Given the description of an element on the screen output the (x, y) to click on. 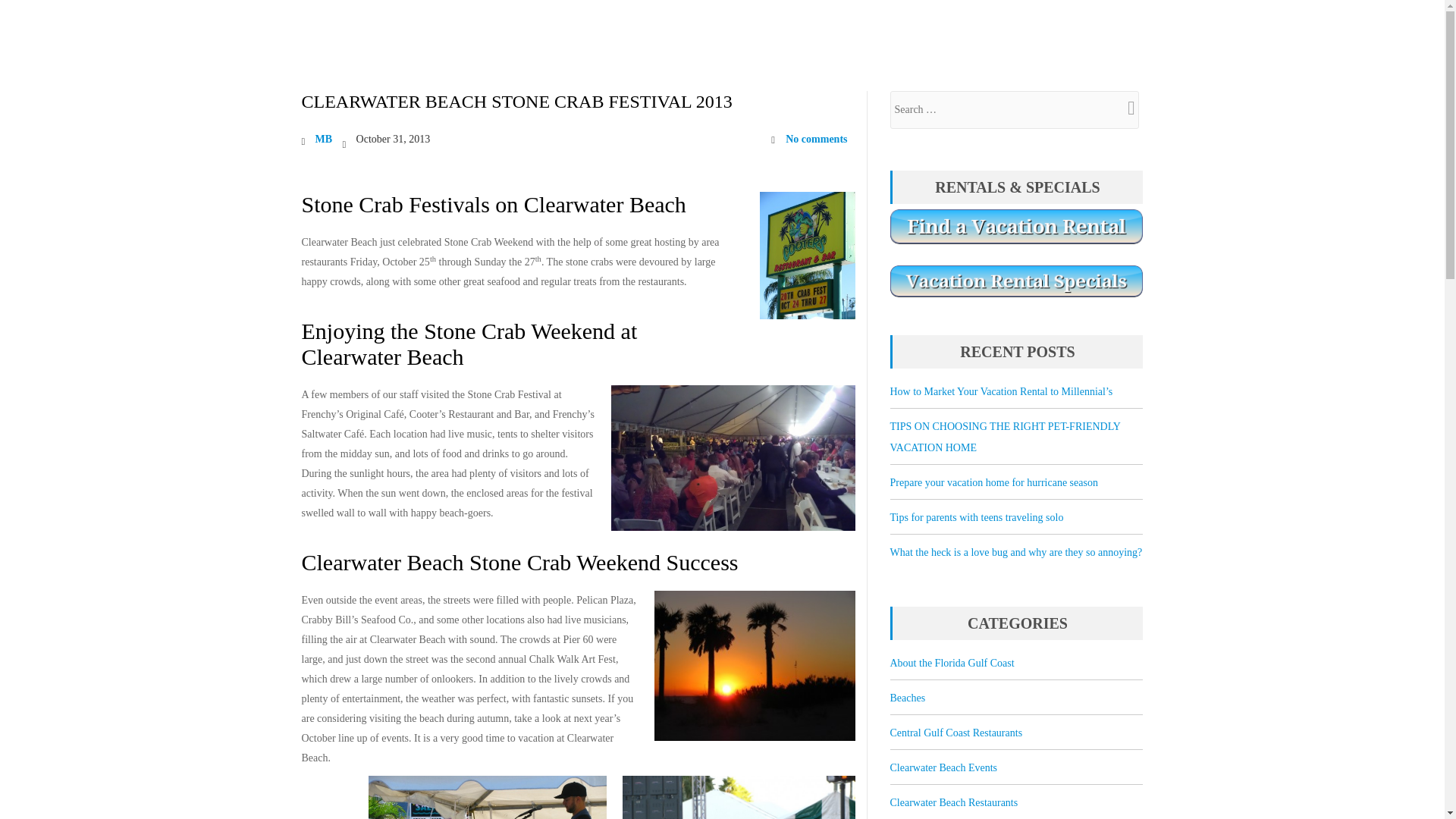
Search (1122, 107)
No comments (809, 138)
Search (1122, 107)
MB (324, 138)
